Given the description of an element on the screen output the (x, y) to click on. 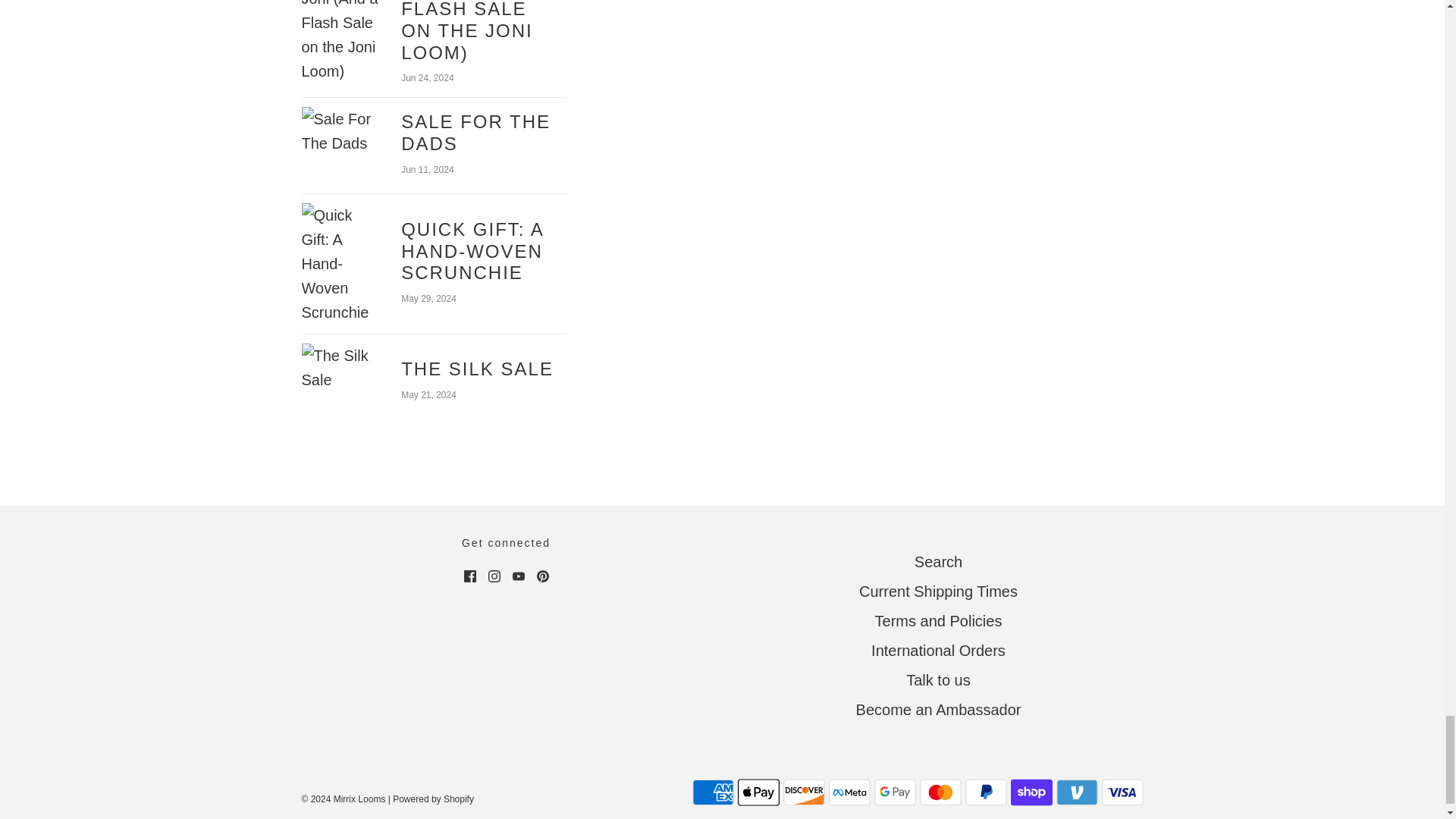
Discover (803, 792)
Visa (1121, 792)
Pinterest icon (542, 576)
Apple Pay (757, 792)
PayPal (984, 792)
Google Pay (894, 792)
Meta Pay (848, 792)
Mastercard (939, 792)
Instagram icon (493, 576)
Facebook icon (470, 576)
